Given the description of an element on the screen output the (x, y) to click on. 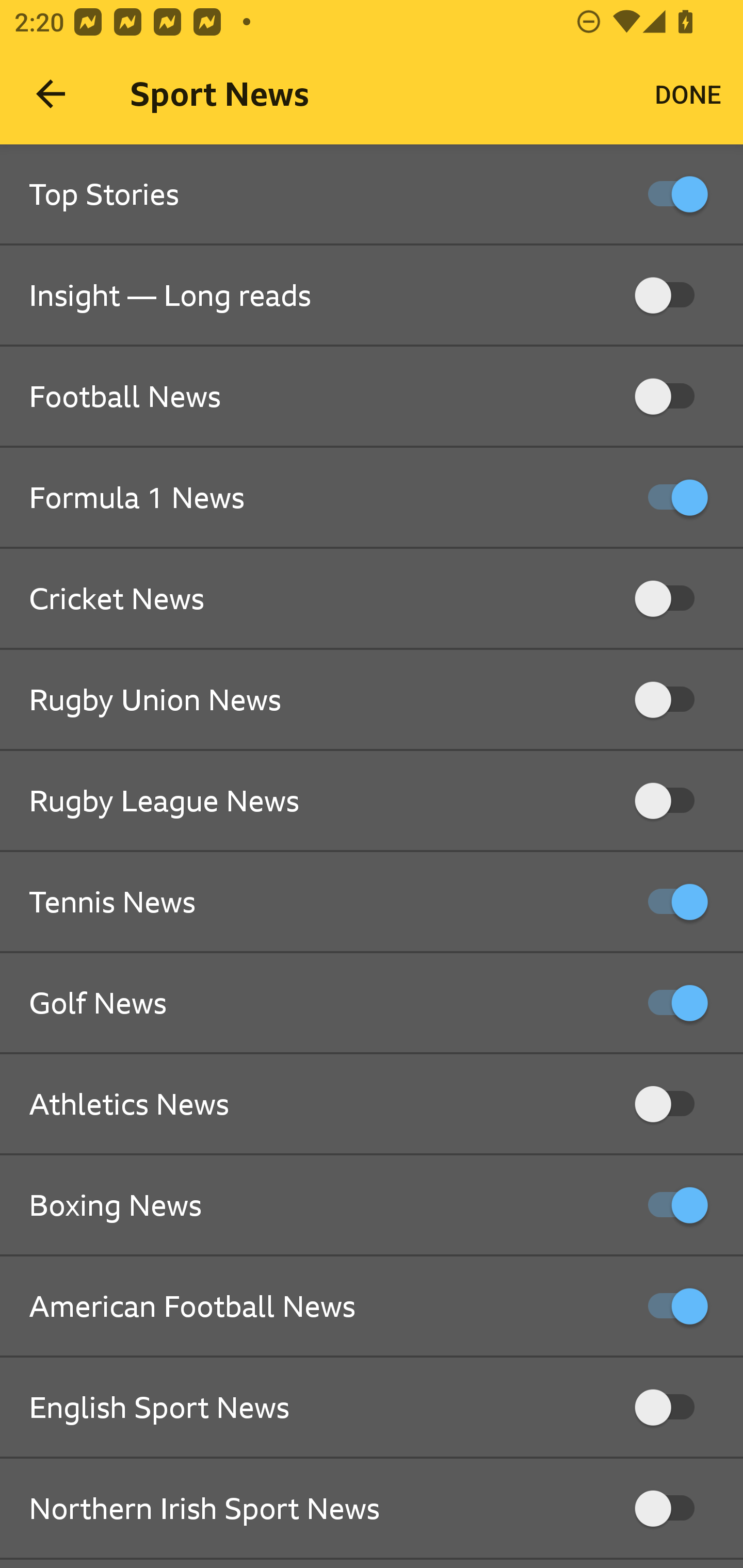
Navigate up (50, 93)
DONE (688, 93)
Top Stories, ON, Switch Top Stories (371, 195)
Football News, OFF, Switch Football News (371, 397)
Formula 1 News, ON, Switch Formula 1 News (371, 498)
Cricket News, OFF, Switch Cricket News (371, 598)
Rugby Union News, OFF, Switch Rugby Union News (371, 700)
Rugby League News, OFF, Switch Rugby League News (371, 801)
Tennis News, ON, Switch Tennis News (371, 902)
Golf News, ON, Switch Golf News (371, 1003)
Athletics News, OFF, Switch Athletics News (371, 1104)
Boxing News, ON, Switch Boxing News (371, 1205)
English Sport News, OFF, Switch English Sport News (371, 1407)
